Given the description of an element on the screen output the (x, y) to click on. 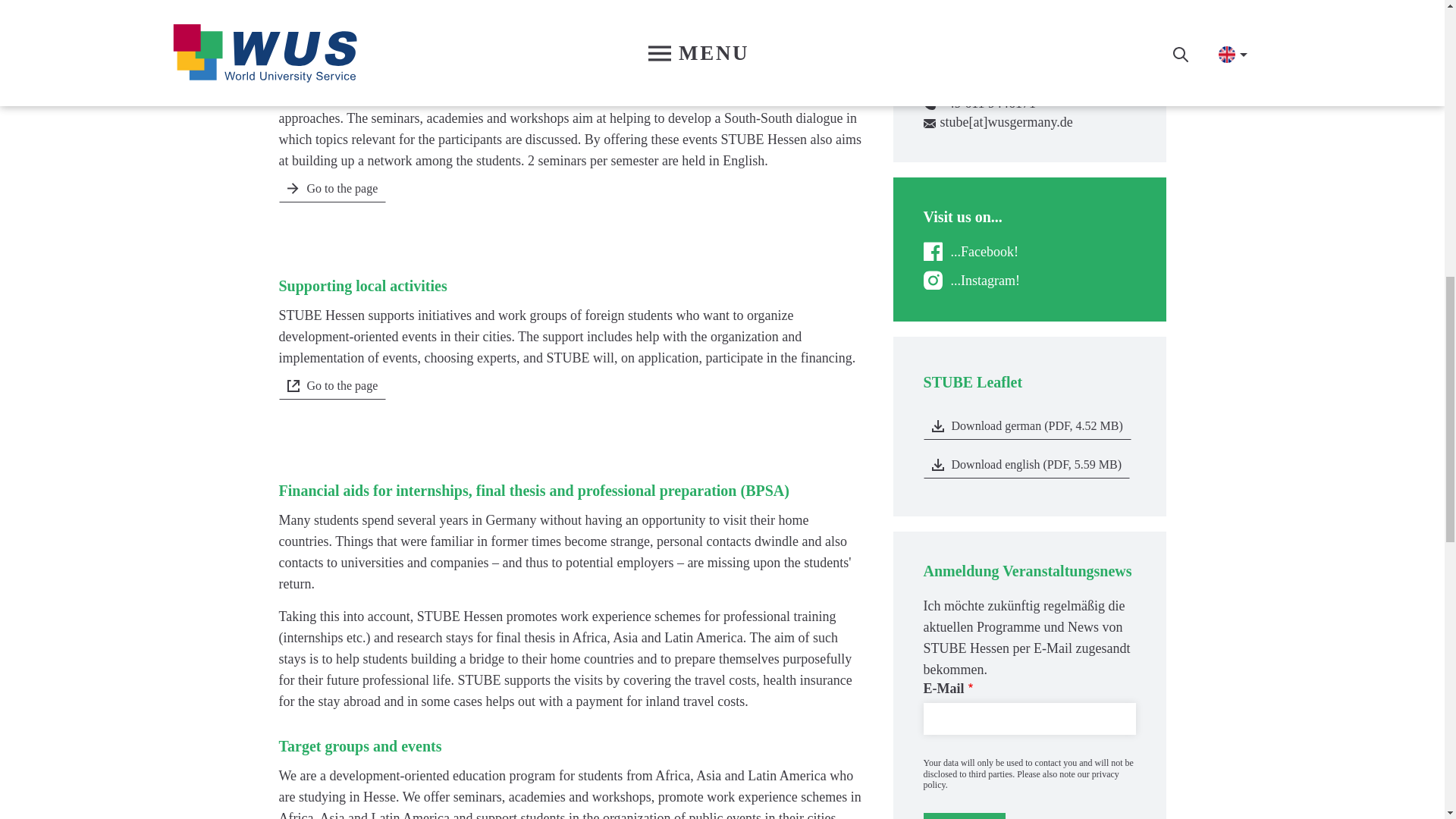
Absenden (964, 816)
